Given the description of an element on the screen output the (x, y) to click on. 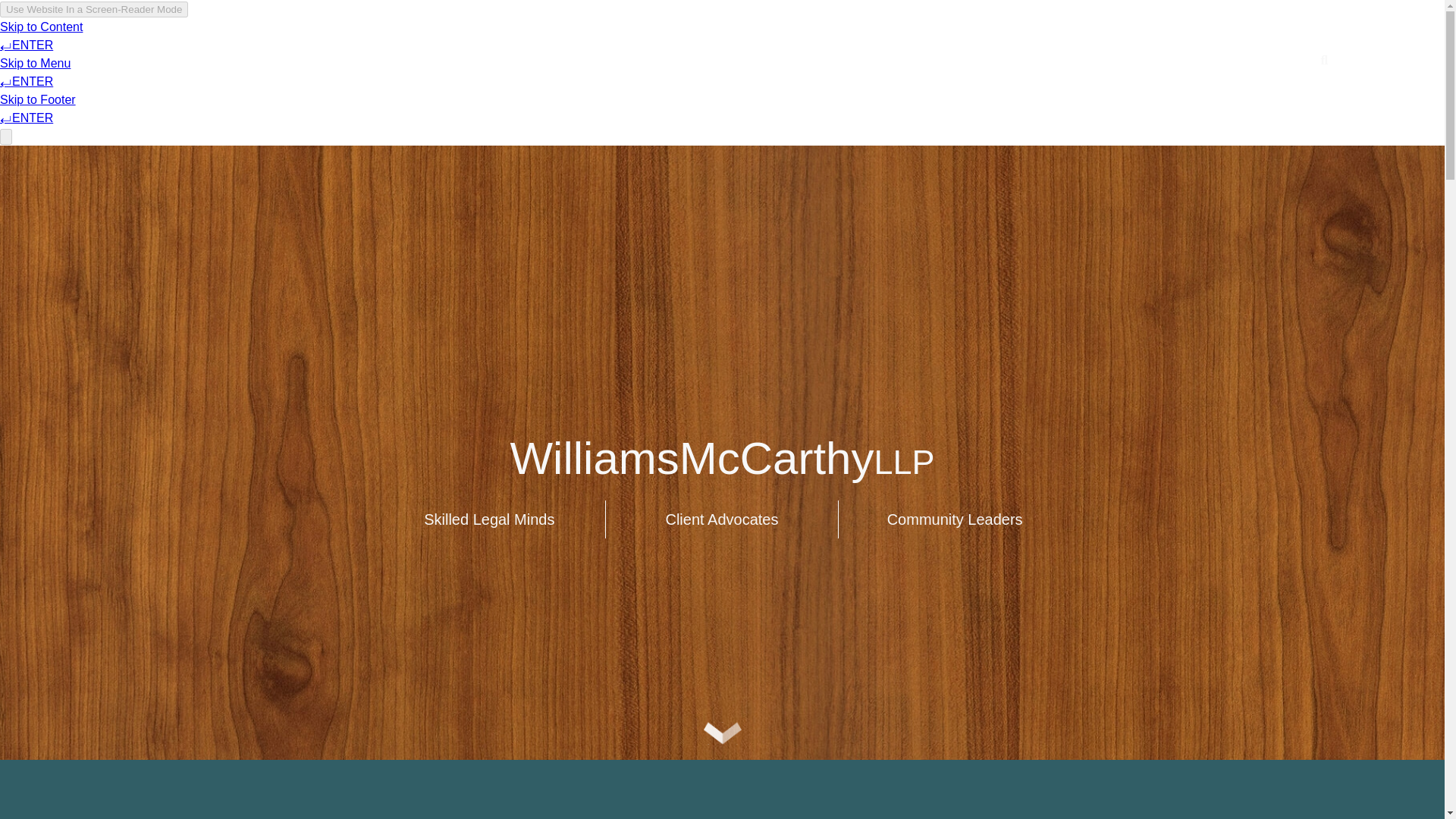
Attorneys (470, 60)
Practice Areas (613, 60)
The Firm (345, 60)
